Given the description of an element on the screen output the (x, y) to click on. 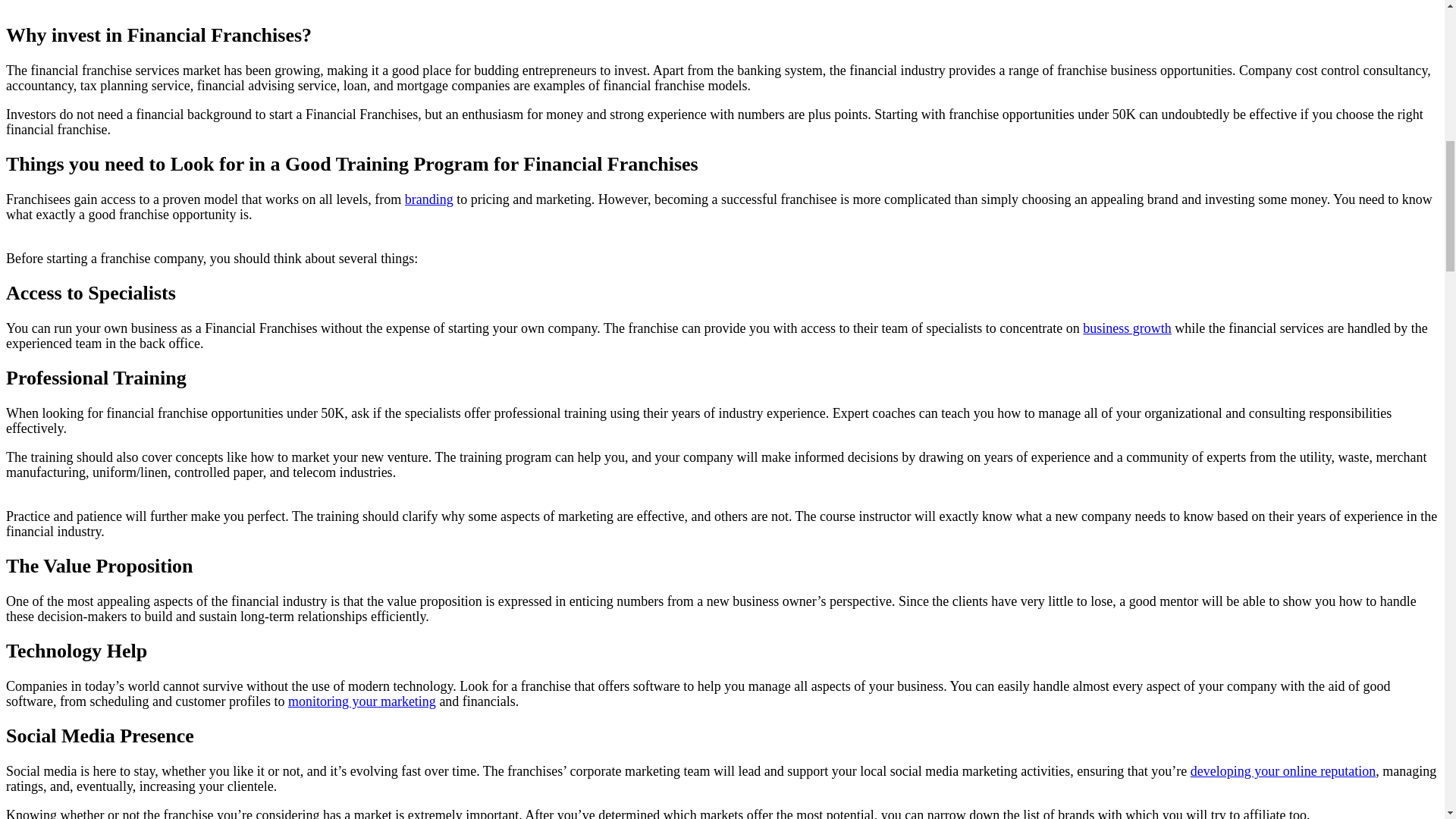
branding (428, 199)
monitoring your marketing (361, 701)
business growth (1127, 328)
